Given the description of an element on the screen output the (x, y) to click on. 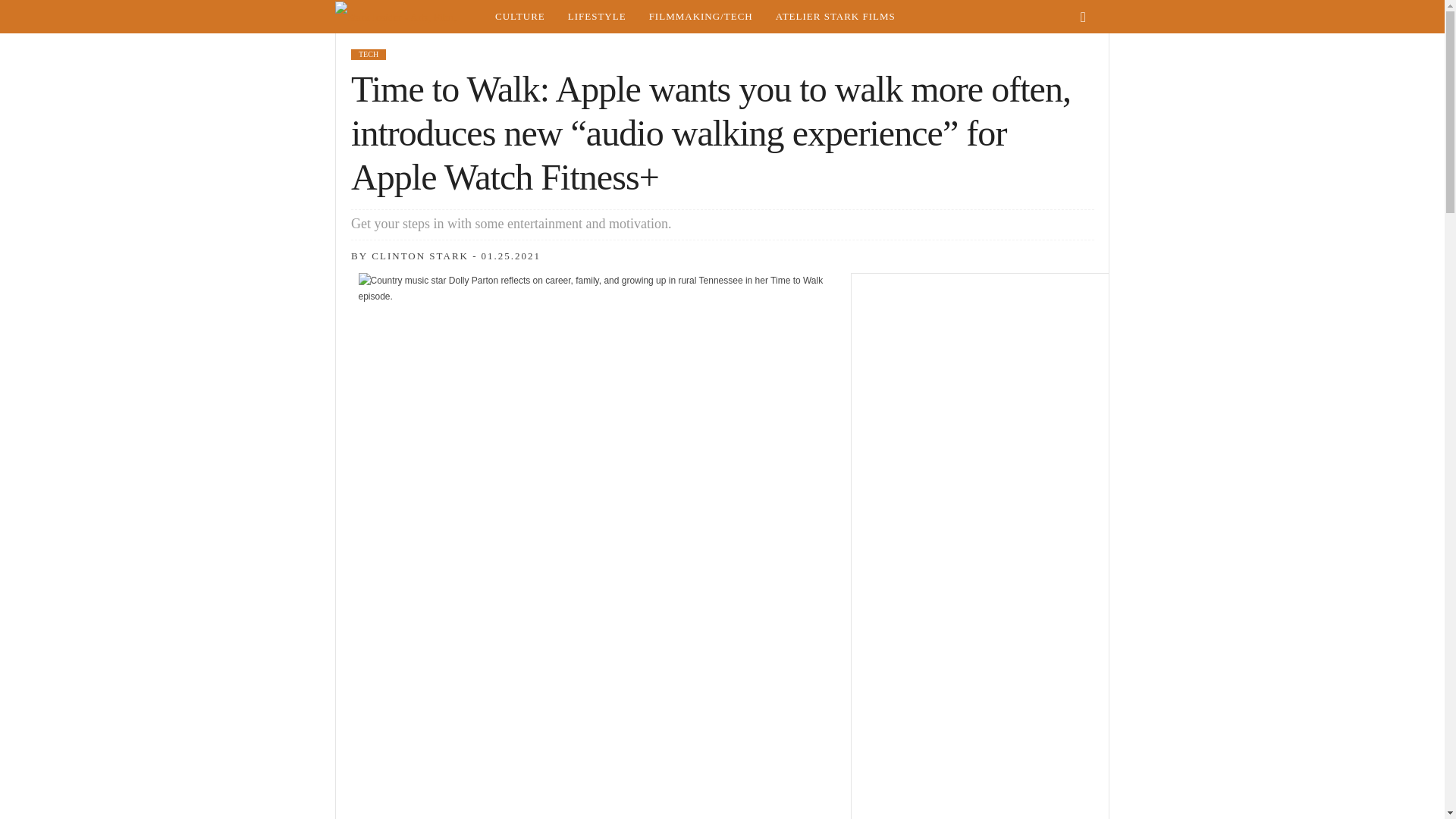
Indie film, music, arts in San Francisco and Silicon Valley (519, 16)
TECH (367, 54)
LIFESTYLE (596, 16)
Stark Insider (408, 16)
CULTURE (519, 16)
CLINTON STARK (419, 255)
Tech, gadgets, camera news and reviews from Silicon Valley (700, 16)
ATELIER STARK FILMS (835, 16)
